Given the description of an element on the screen output the (x, y) to click on. 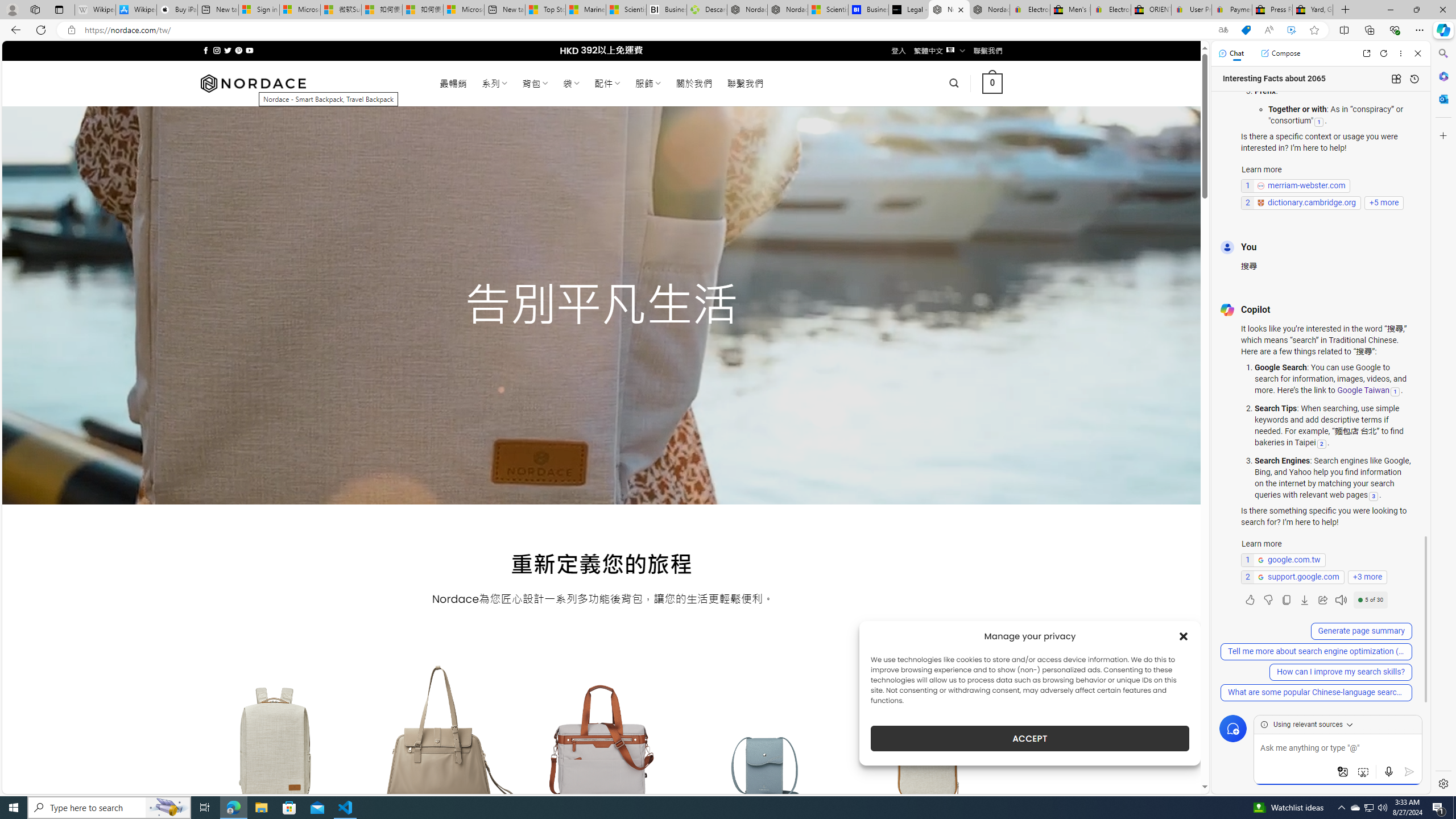
ACCEPT (1029, 738)
